Given the description of an element on the screen output the (x, y) to click on. 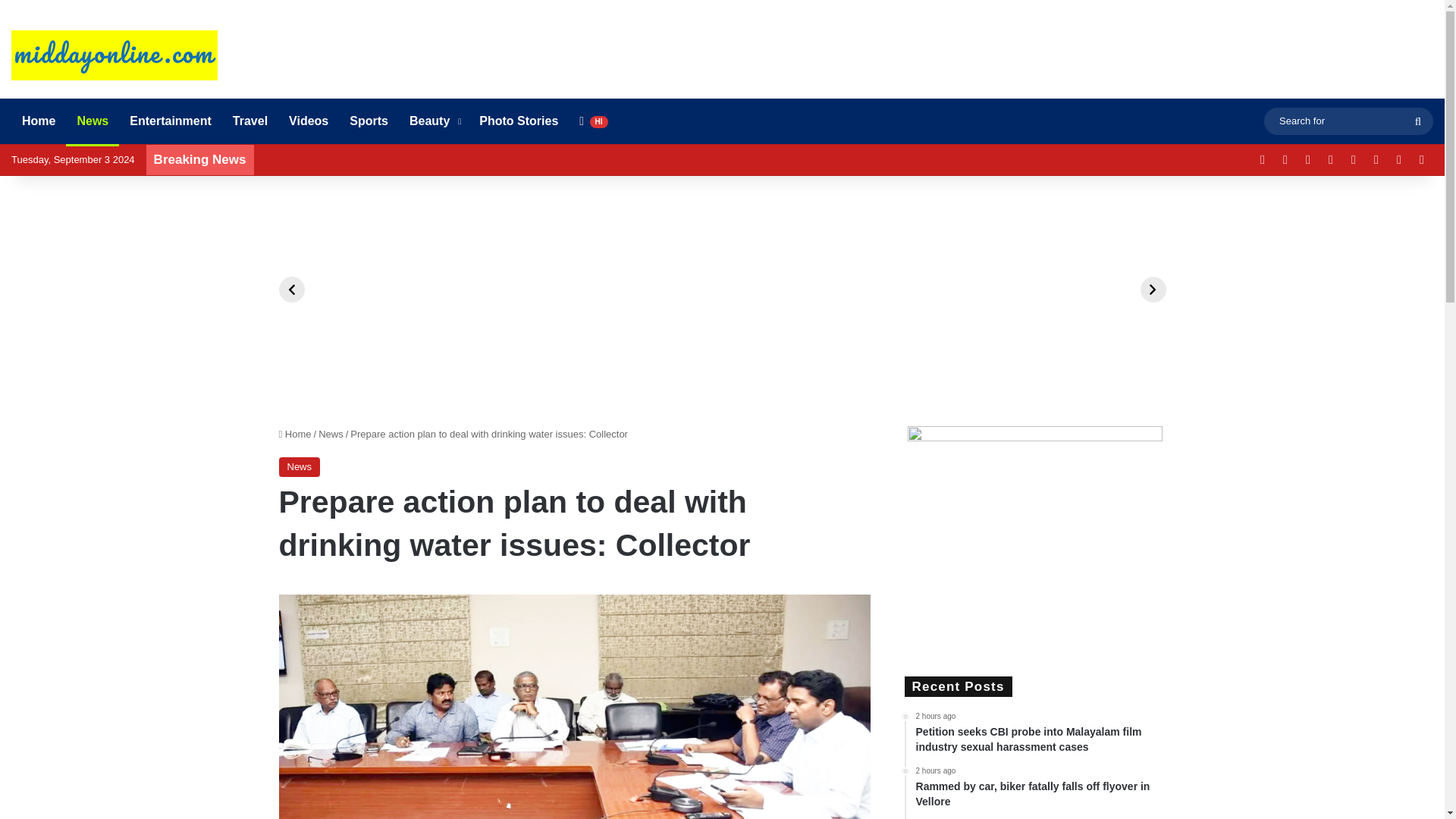
Home (38, 121)
Videos (308, 121)
Search for (1347, 120)
Sports (368, 121)
Search for (1417, 121)
Entertainment (170, 121)
middayonline (113, 55)
Beauty (433, 121)
Travel (250, 121)
HI (593, 121)
